Given the description of an element on the screen output the (x, y) to click on. 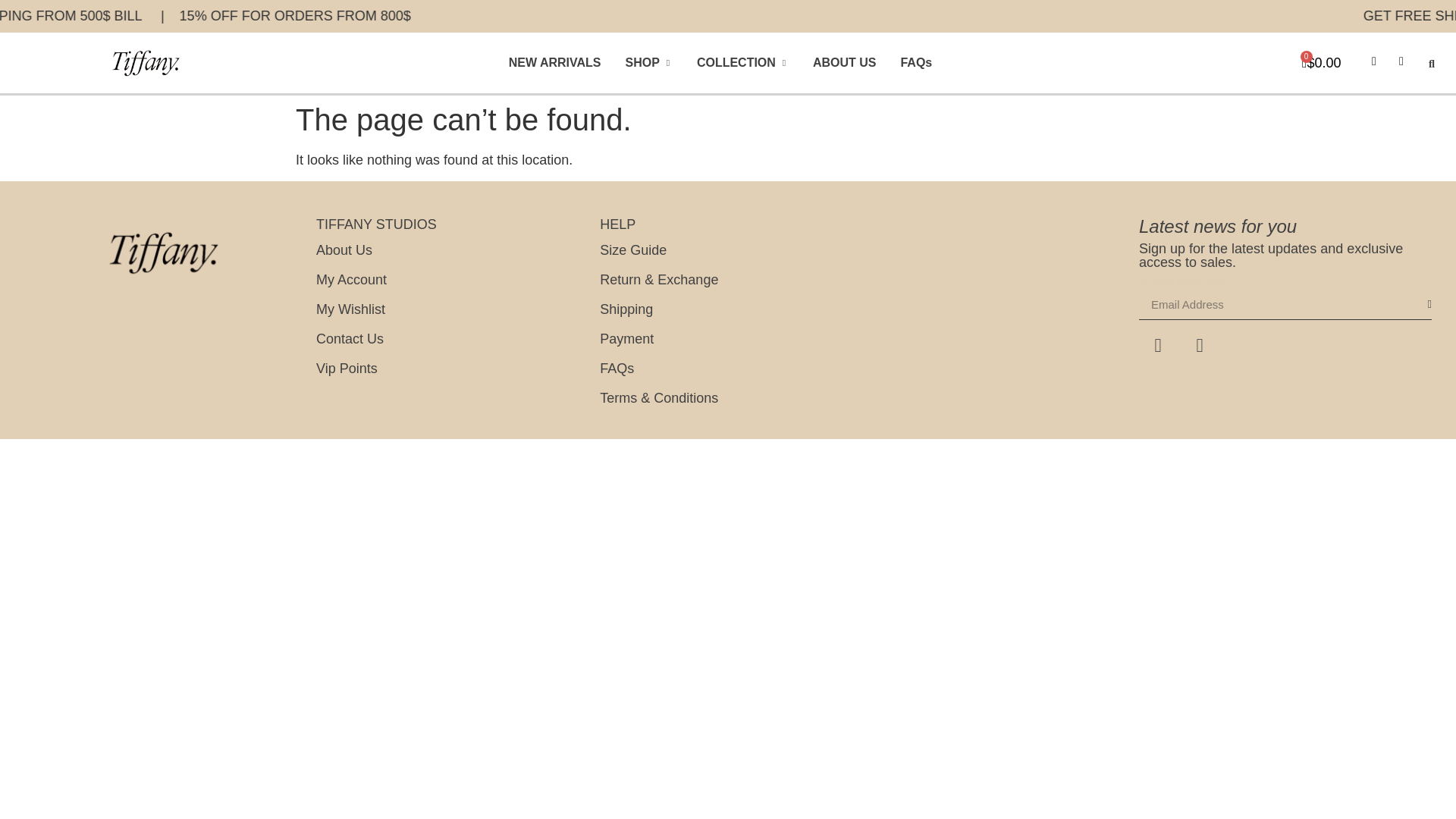
FAQs (915, 63)
NEW ARRIVALS (554, 63)
ABOUT US (844, 63)
